Given the description of an element on the screen output the (x, y) to click on. 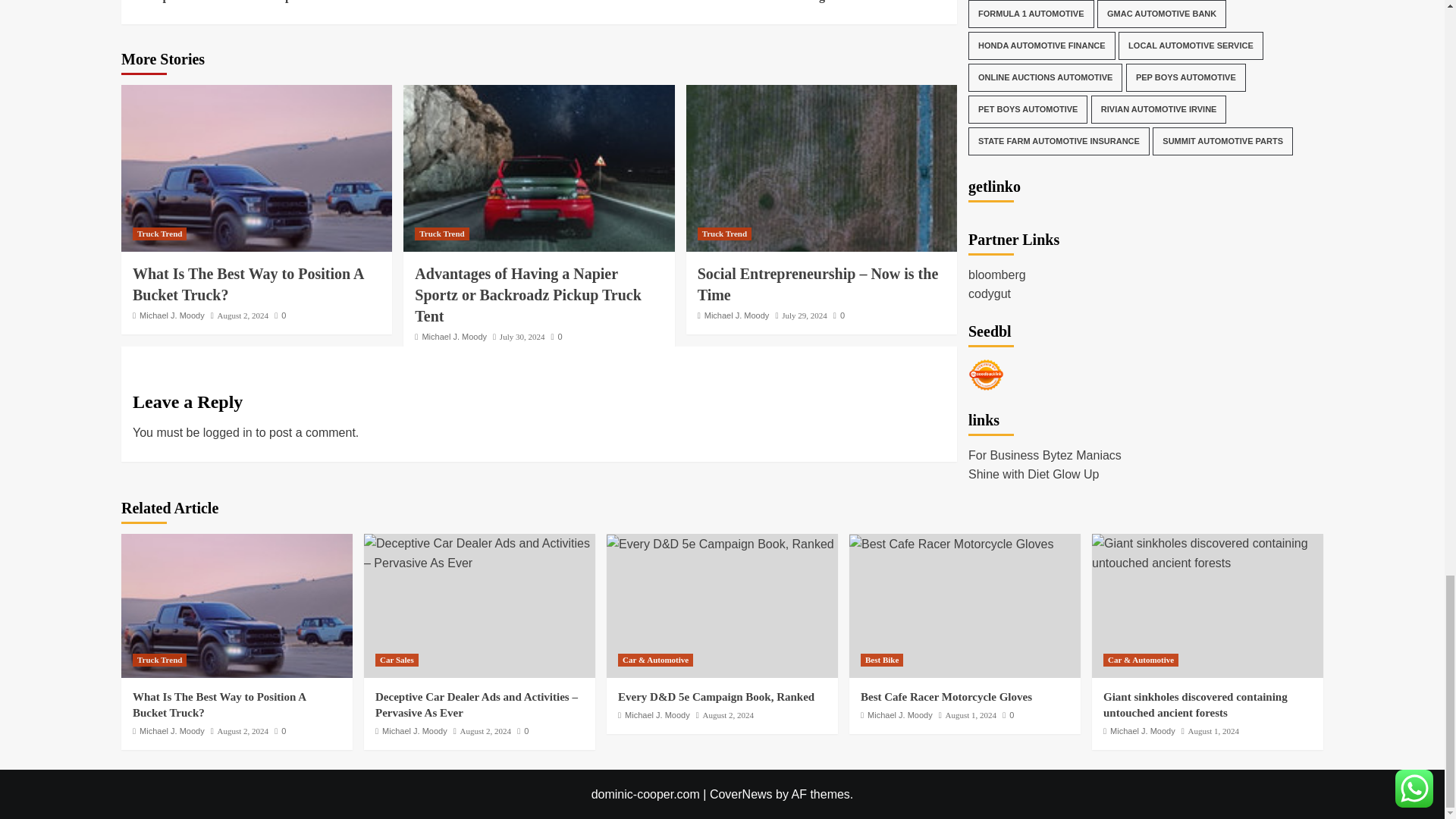
What Is The Best Way to Position A Bucket Truck? (255, 168)
